Given the description of an element on the screen output the (x, y) to click on. 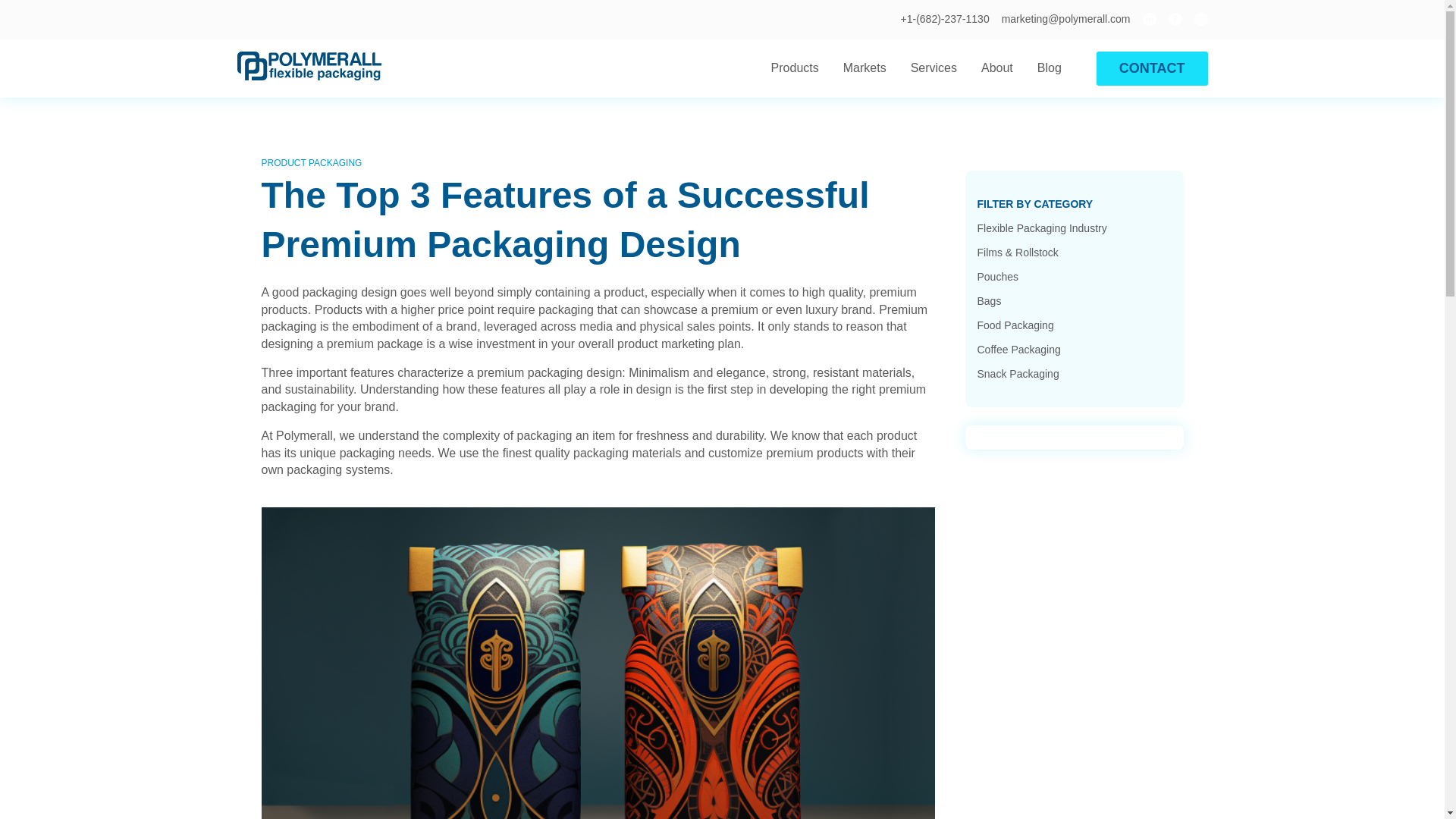
Bags (988, 300)
Snack Packaging (1017, 373)
Blog (1049, 68)
Services (933, 68)
About (997, 68)
Coffee Packaging (1017, 349)
CONTACT (1152, 68)
Products (794, 68)
Pouches (996, 276)
Markets (864, 68)
